Given the description of an element on the screen output the (x, y) to click on. 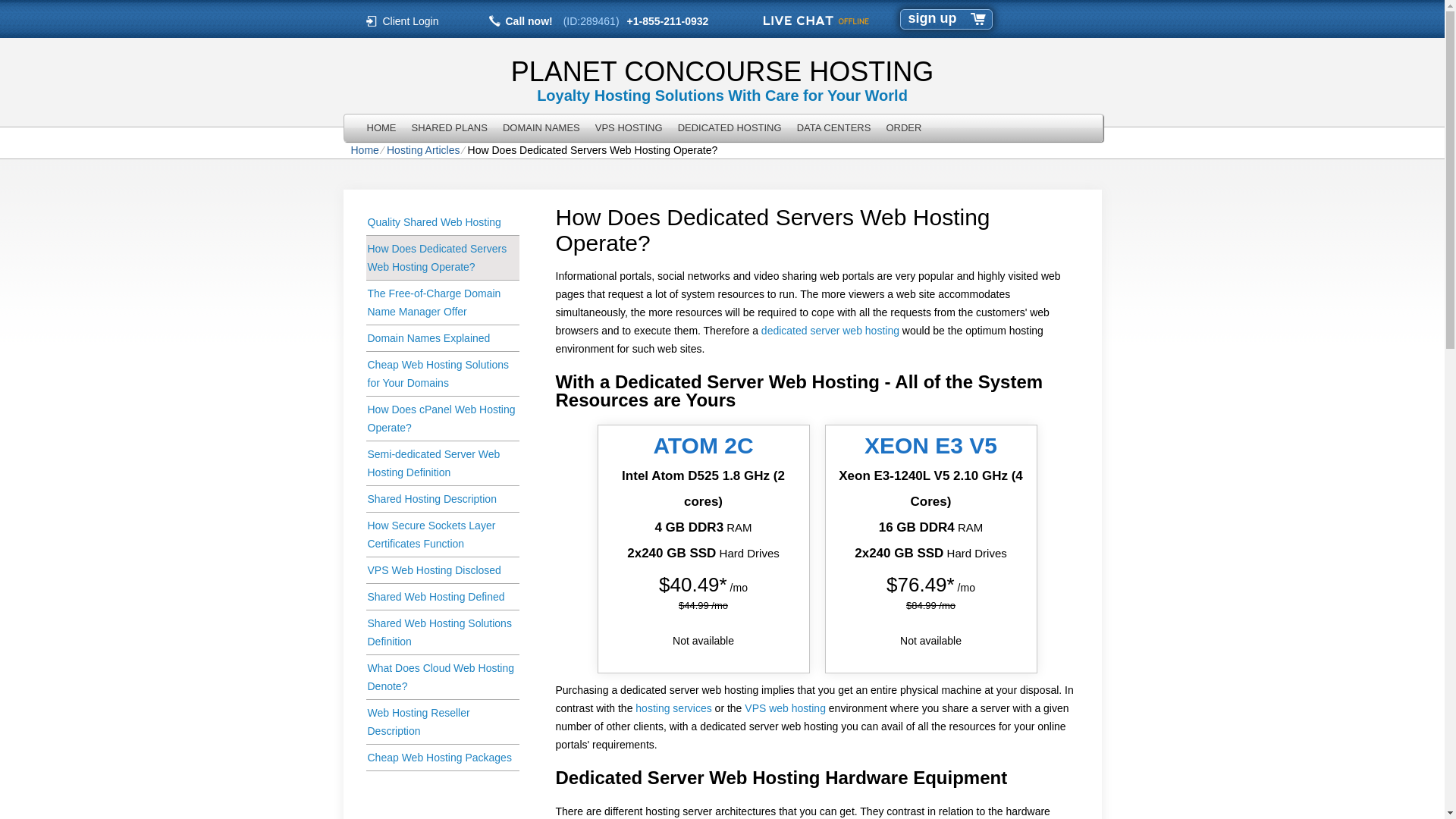
PLANET CONCOURSE HOSTING (721, 71)
Hosting Articles (423, 150)
DATA CENTERS (834, 127)
How Secure Sockets Layer Certificates Function (441, 534)
client login (411, 20)
SHARED PLANS (449, 127)
How Does Dedicated Servers Web Hosting Operate? (441, 257)
Cheap Web Hosting Solutions for Your Domains (441, 374)
DEDICATED HOSTING (729, 127)
Client Login (411, 20)
Shared Hosting Description (441, 499)
The Free-of-Charge Domain Name Manager Offer (441, 302)
DOMAIN NAMES (541, 127)
sign up (932, 17)
HOME (381, 127)
